Given the description of an element on the screen output the (x, y) to click on. 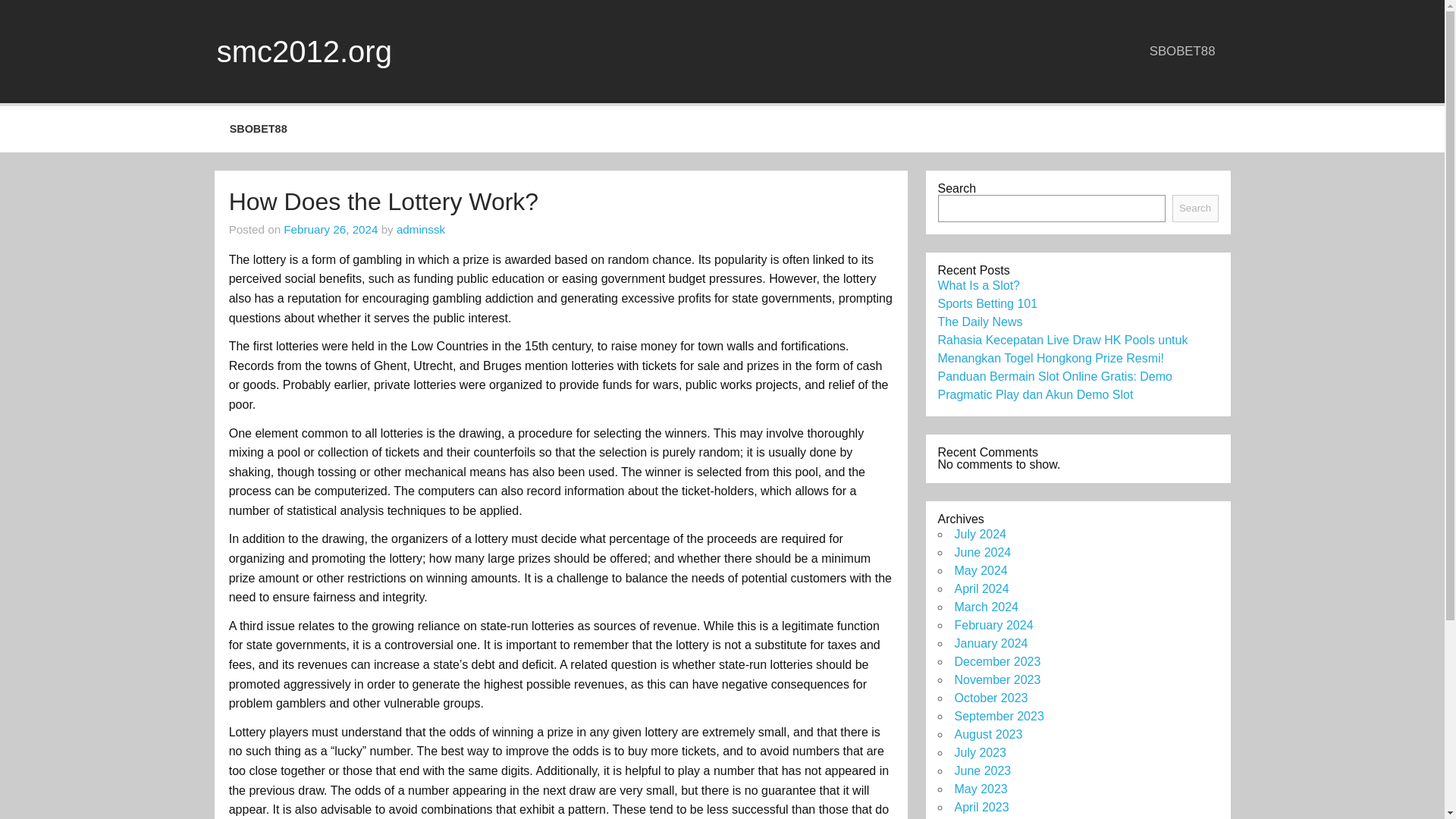
October 2023 (990, 697)
April 2024 (981, 588)
June 2023 (981, 770)
View all posts by adminssk (420, 228)
January 2024 (990, 643)
February 2024 (992, 625)
November 2023 (997, 679)
July 2024 (979, 533)
August 2023 (987, 734)
Sports Betting 101 (986, 303)
September 2023 (998, 716)
July 2023 (979, 752)
June 2024 (981, 552)
